Given the description of an element on the screen output the (x, y) to click on. 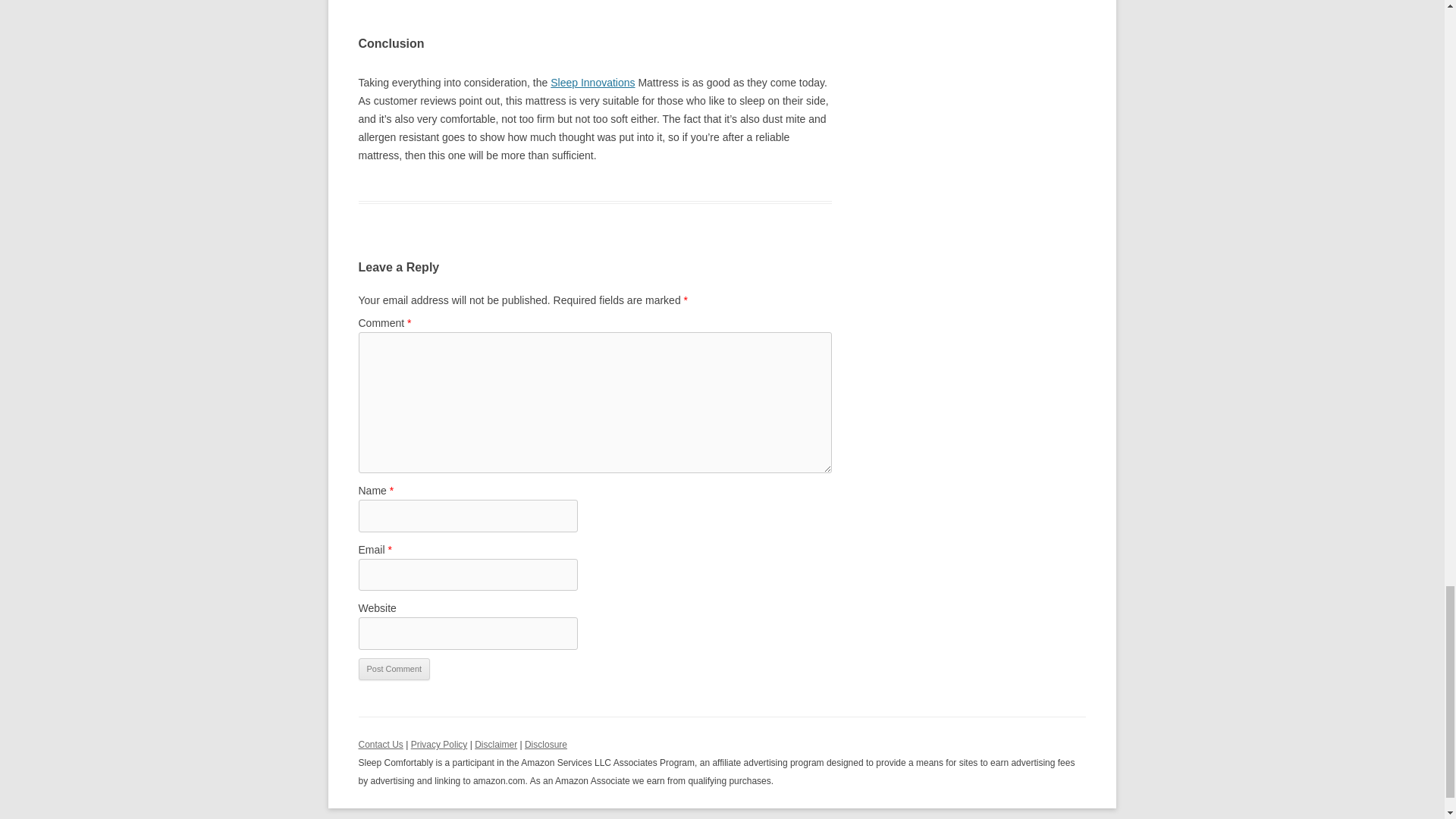
Contact Us (380, 744)
Post Comment (393, 669)
Sleep Innovations (592, 82)
Privacy Policy (438, 744)
Disclaimer (495, 744)
Post Comment (393, 669)
Disclosure (545, 744)
